Given the description of an element on the screen output the (x, y) to click on. 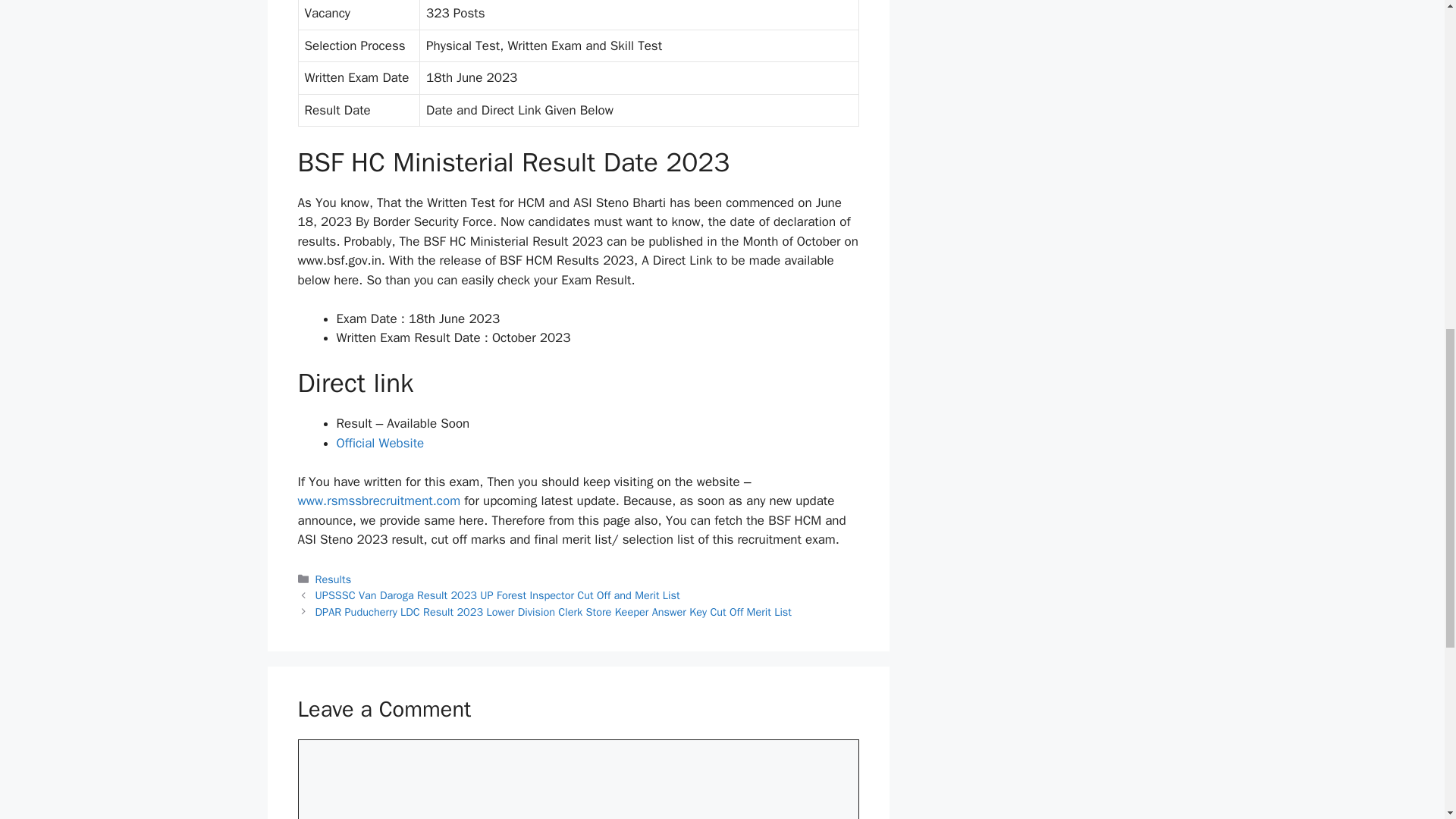
www.rsmssbrecruitment.com (378, 500)
Official Website (380, 442)
Results (333, 579)
